Given the description of an element on the screen output the (x, y) to click on. 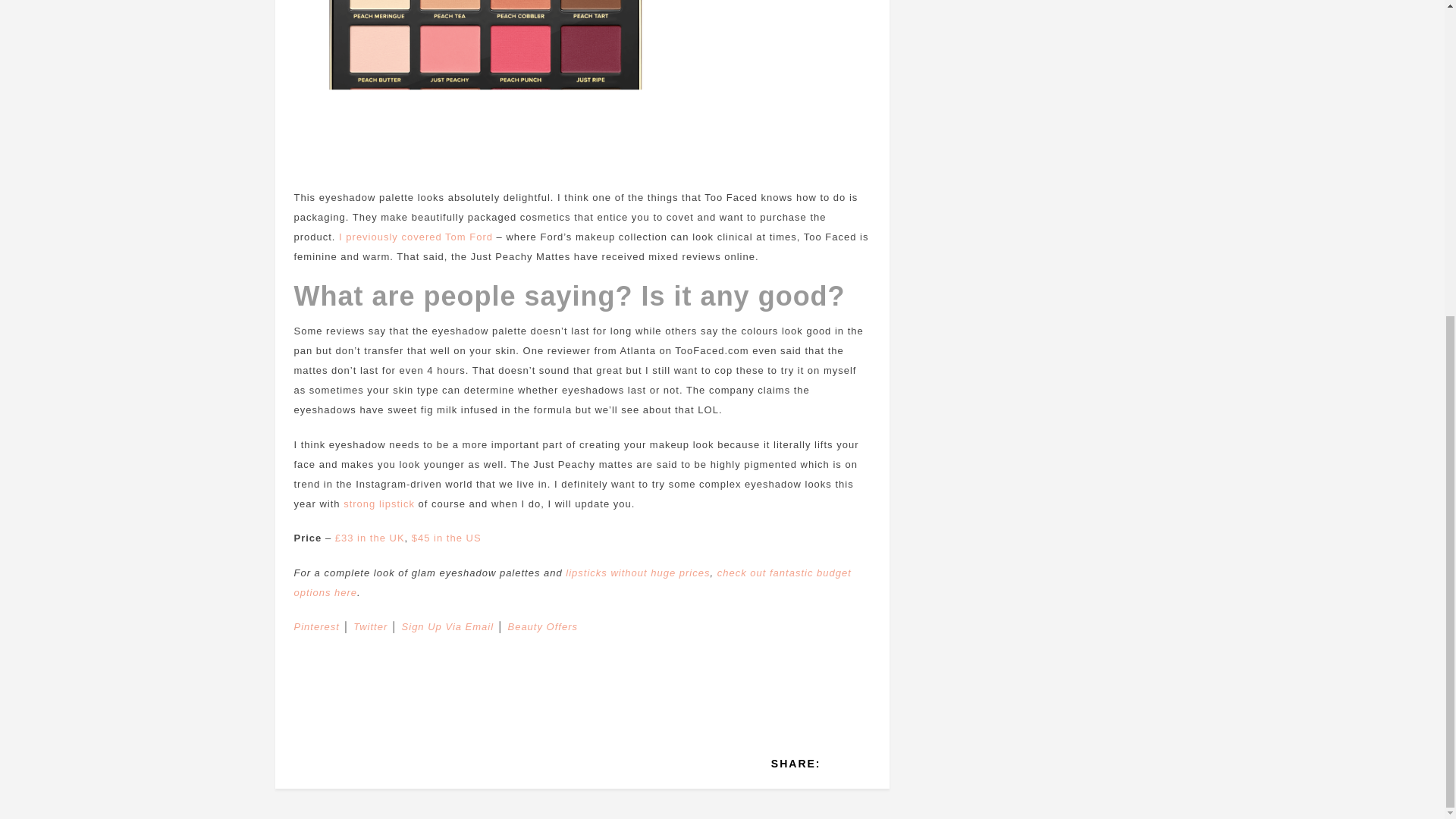
strong lipstick (378, 503)
I previously covered Tom Ford (416, 236)
lipsticks without huge prices (638, 572)
Sign Up Via Email (448, 626)
Twitter (370, 626)
Beauty Offers (541, 626)
Pinterest (316, 626)
check out fantastic budget options here (572, 582)
